Given the description of an element on the screen output the (x, y) to click on. 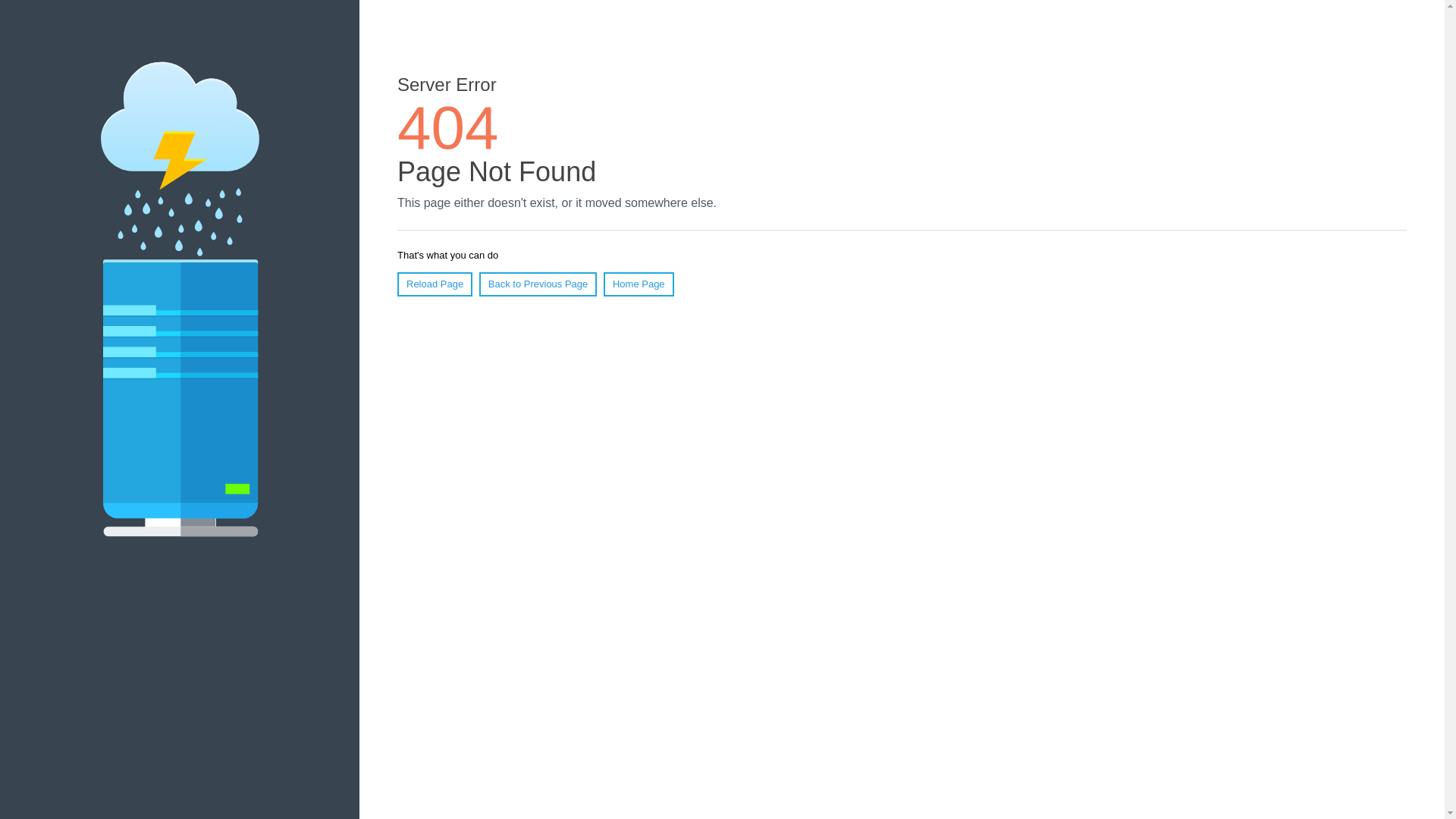
Back to Previous Page Element type: text (538, 284)
Reload Page Element type: text (434, 284)
Home Page Element type: text (638, 284)
